Given the description of an element on the screen output the (x, y) to click on. 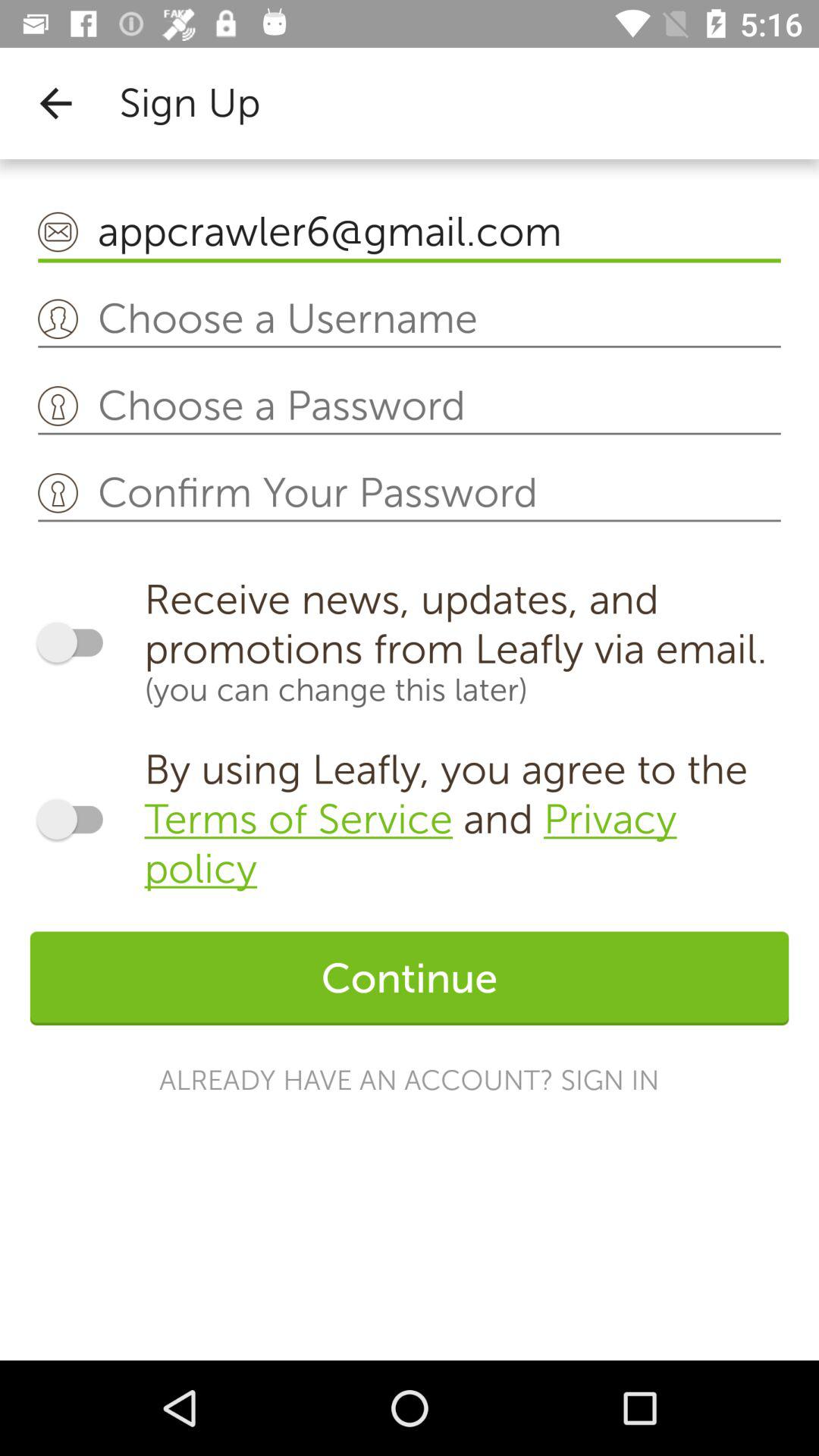
choose the item above the appcrawler6@gmail.com icon (55, 103)
